Given the description of an element on the screen output the (x, y) to click on. 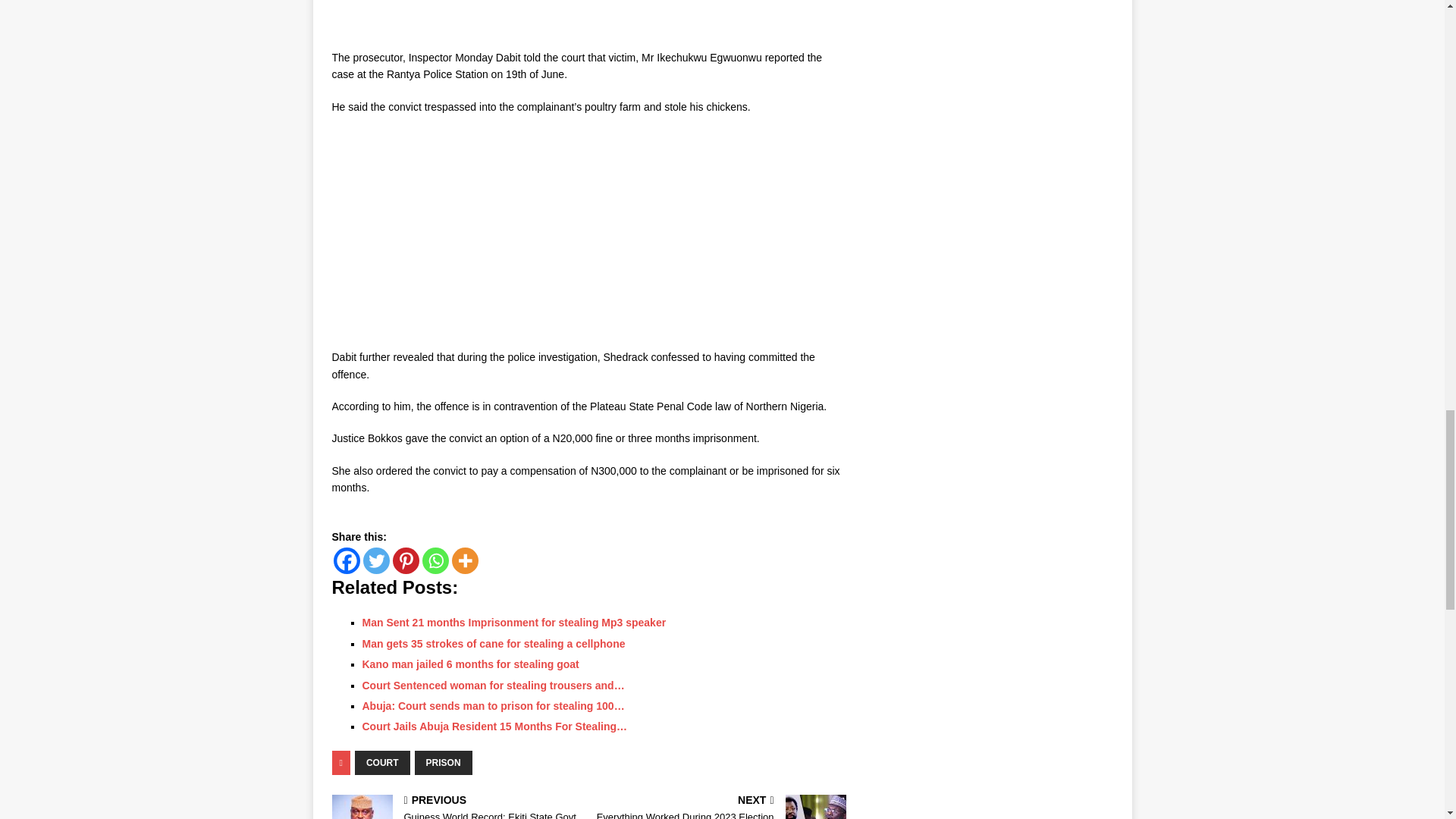
COURT (382, 762)
Man Sent 21 months Imprisonment for stealing Mp3 speaker (514, 622)
Man gets 35 strokes of cane for stealing a cellphone (494, 644)
Twitter (375, 560)
Whatsapp (435, 560)
More (465, 560)
Pinterest (406, 560)
Facebook (346, 560)
PRISON (442, 762)
